Given the description of an element on the screen output the (x, y) to click on. 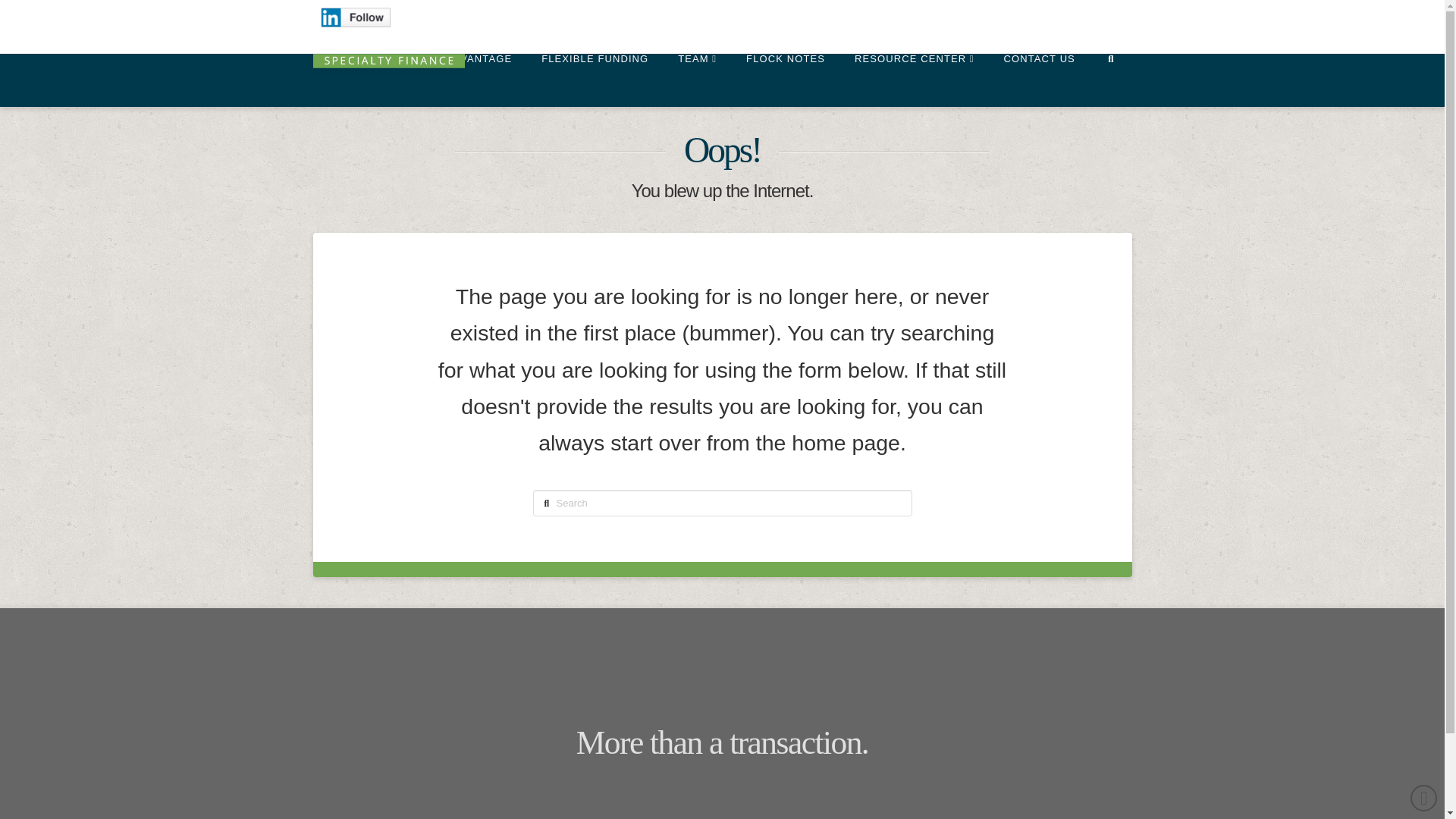
Back to Top (1423, 797)
CONTACT US (1038, 72)
THE FLOCK ADVANTAGE (444, 72)
FLOCK NOTES (785, 72)
FLEXIBLE FUNDING (593, 72)
RESOURCE CENTER (914, 72)
TEAM (696, 72)
